Given the description of an element on the screen output the (x, y) to click on. 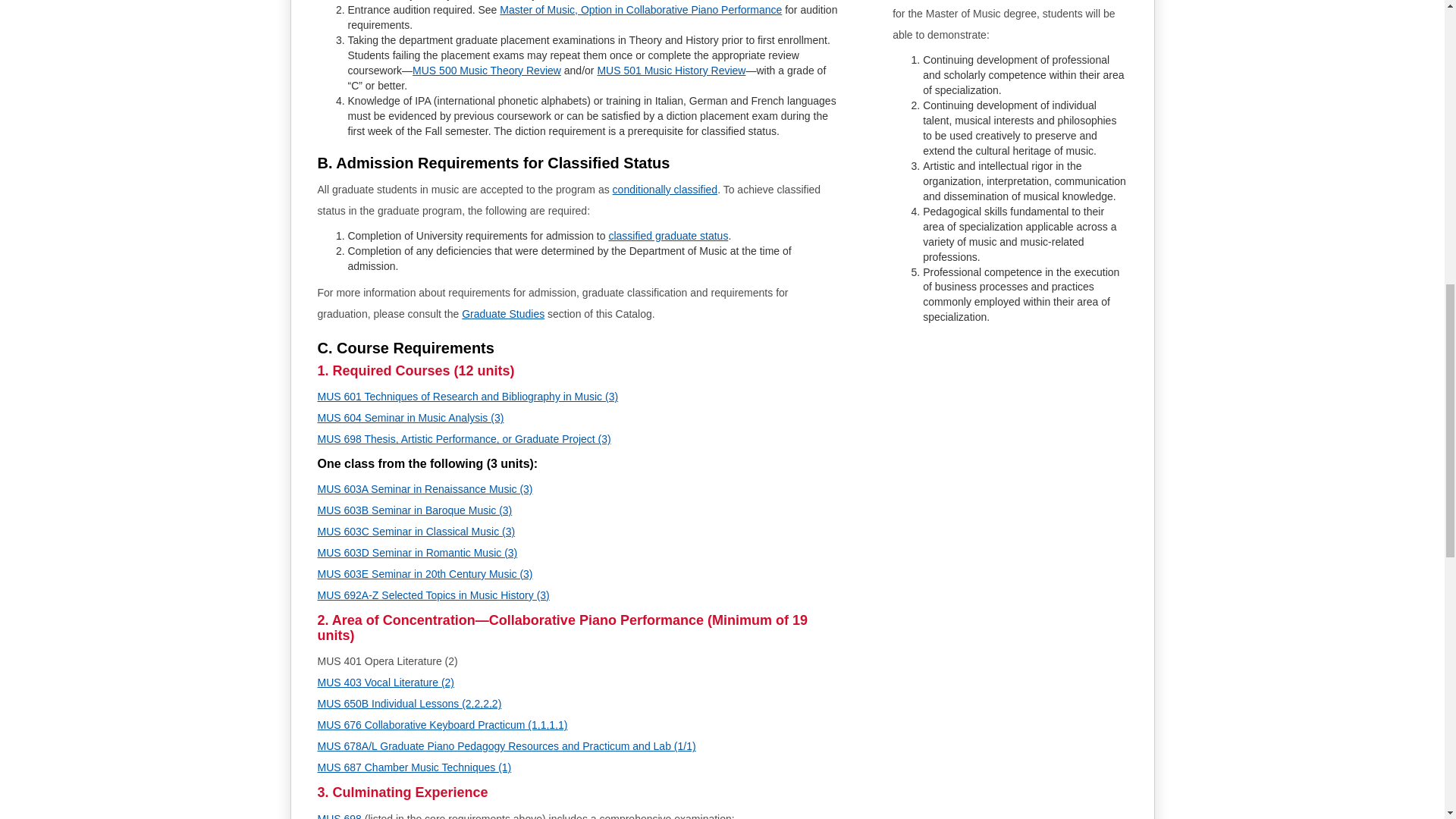
MUS 500 Music Theory Review (486, 70)
Master of Music, Option in Collaborative Piano Performance (640, 9)
MUS 501 Music History Review (670, 70)
classified graduate status (668, 235)
Graduate Studies (502, 313)
conditionally classified (664, 189)
